Given the description of an element on the screen output the (x, y) to click on. 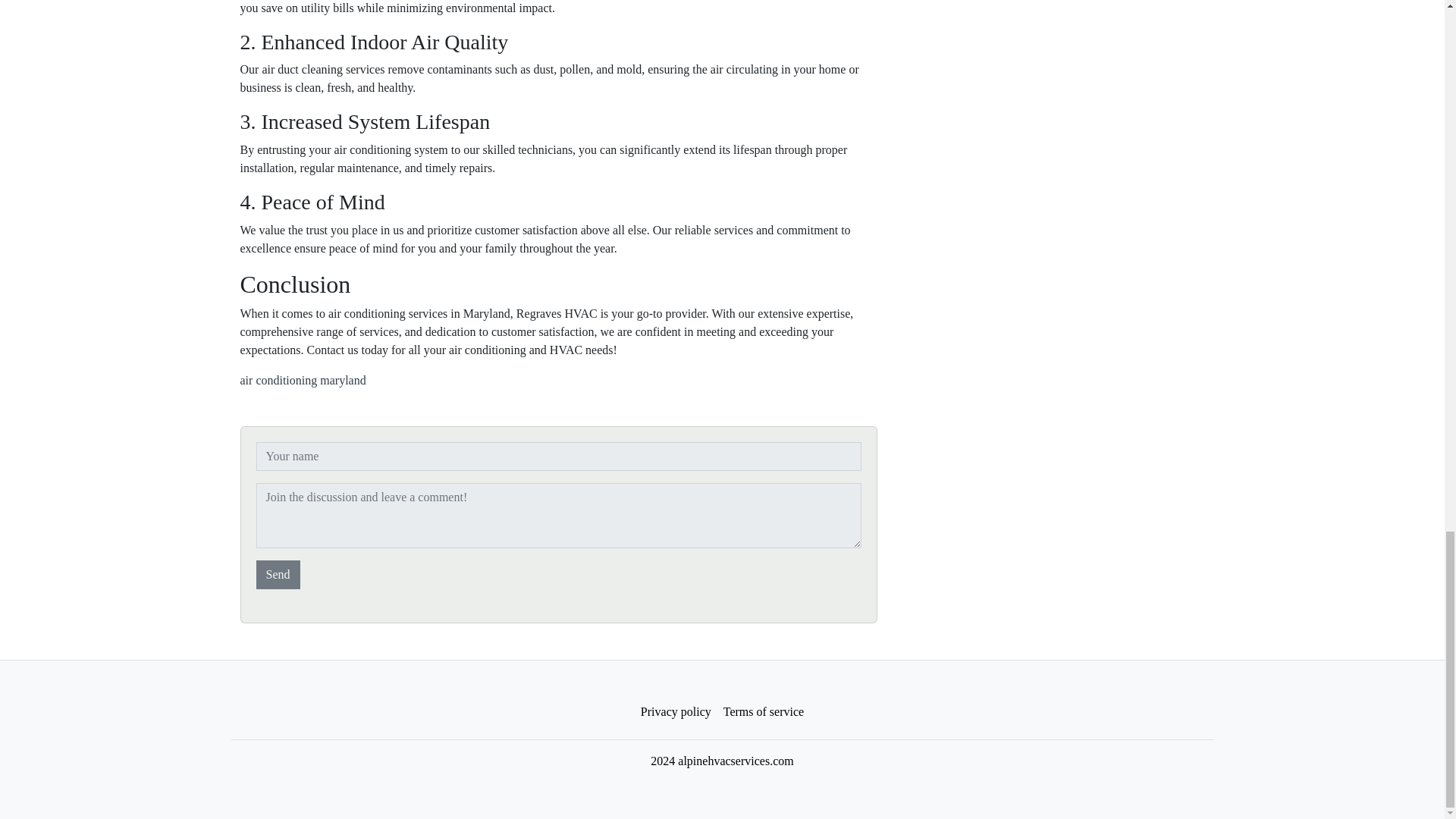
Send (277, 574)
Privacy policy (675, 711)
air conditioning maryland (302, 379)
Terms of service (763, 711)
Send (277, 574)
